Given the description of an element on the screen output the (x, y) to click on. 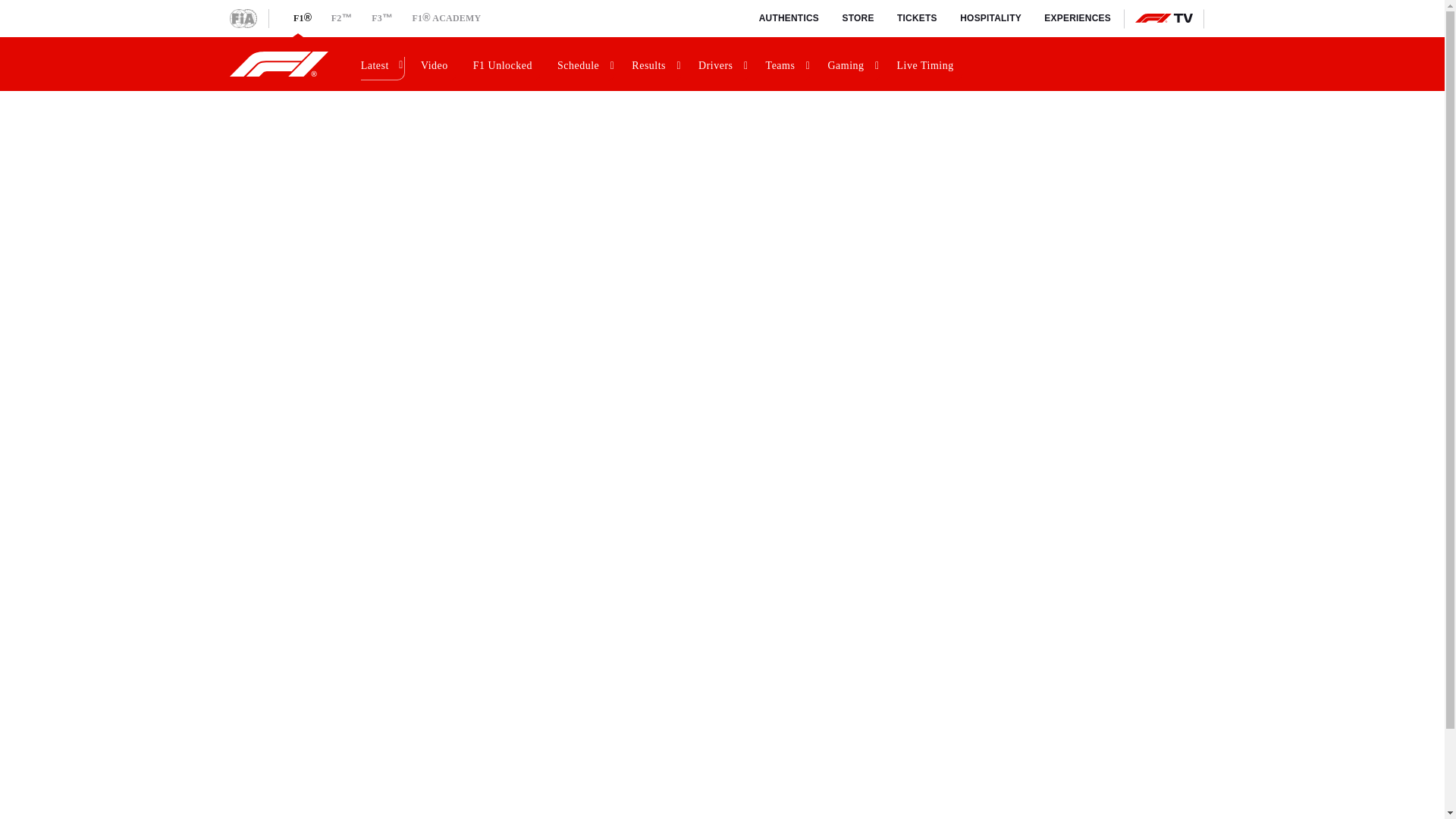
Video (436, 63)
Schedule (584, 63)
Drivers (721, 63)
F1 Unlocked (505, 63)
Results (654, 63)
Latest (380, 63)
